Given the description of an element on the screen output the (x, y) to click on. 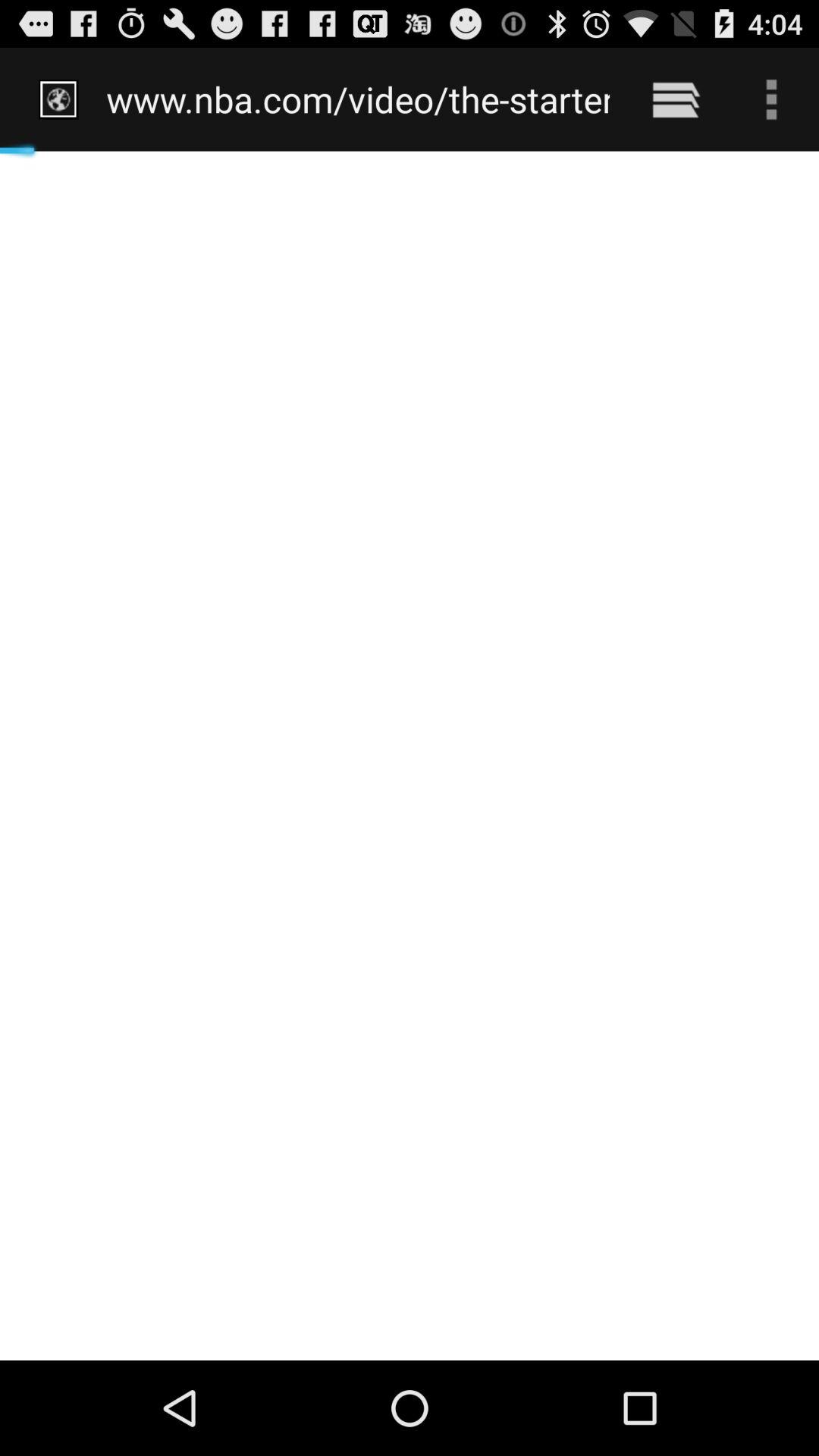
click the www nba com (357, 99)
